Given the description of an element on the screen output the (x, y) to click on. 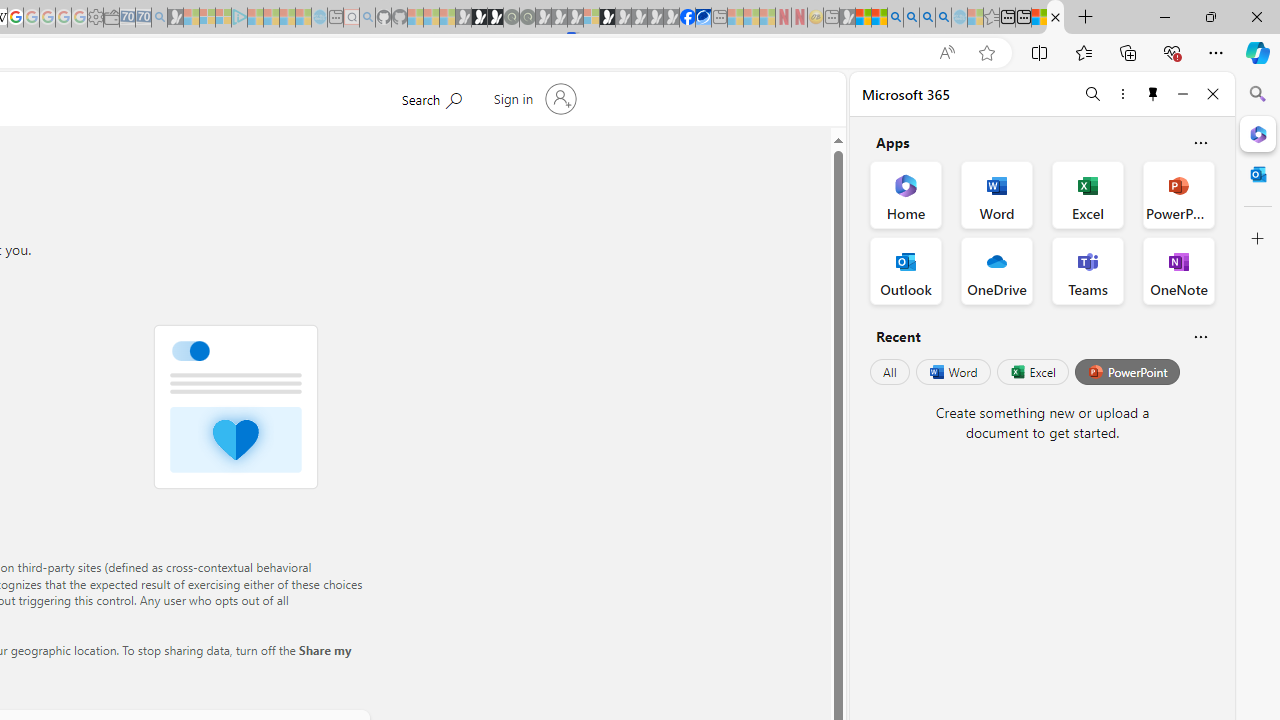
PowerPoint Office App (1178, 194)
Excel (1031, 372)
AirNow.gov (703, 17)
Future Focus Report 2024 - Sleeping (527, 17)
